Given the description of an element on the screen output the (x, y) to click on. 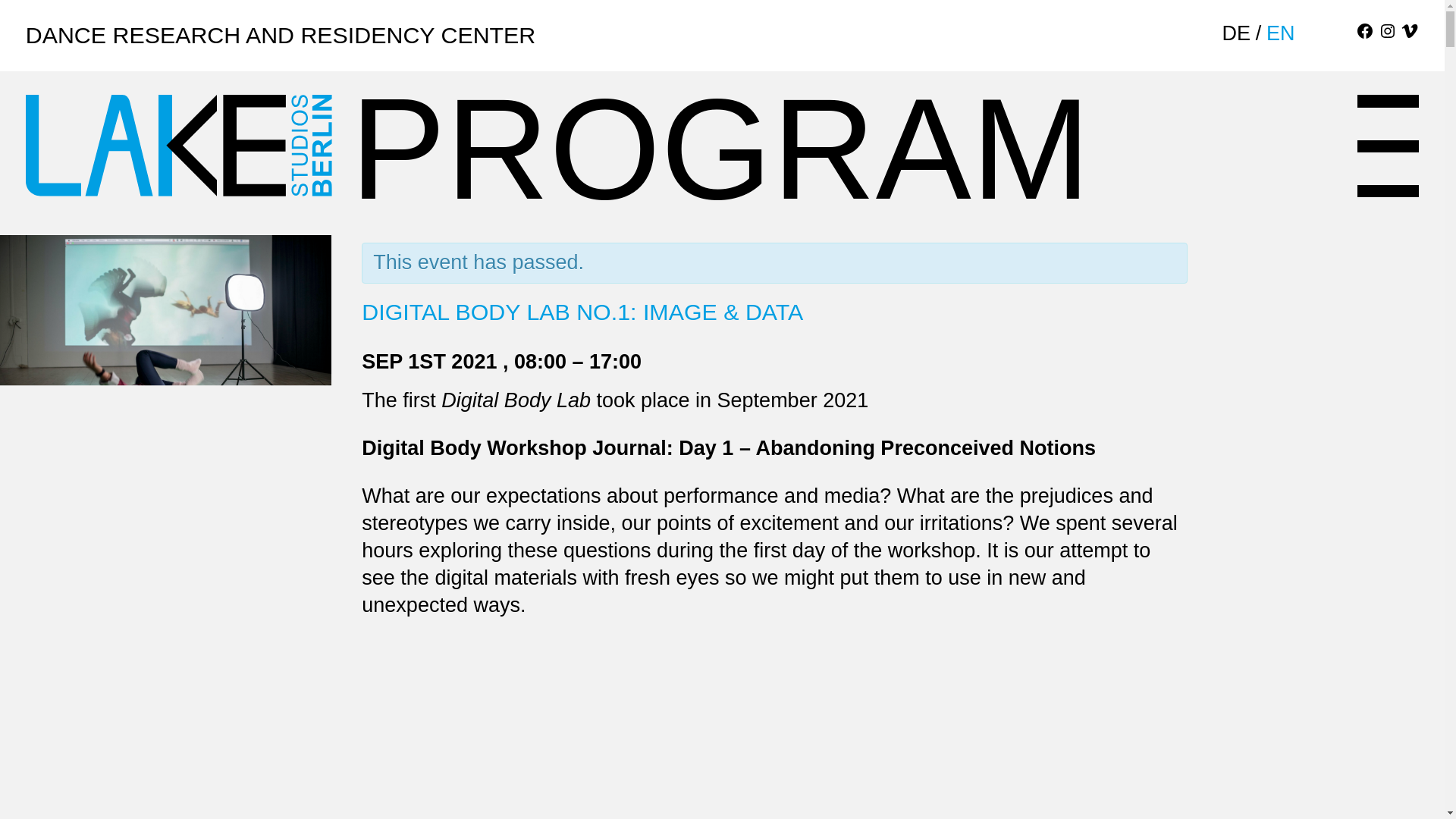
DE (1235, 33)
LAKE STUDIOS BERLIN (179, 146)
PROGRAM (749, 133)
EN (1280, 33)
EN (1280, 33)
CALENDAR (1324, 33)
DE (1235, 33)
